Given the description of an element on the screen output the (x, y) to click on. 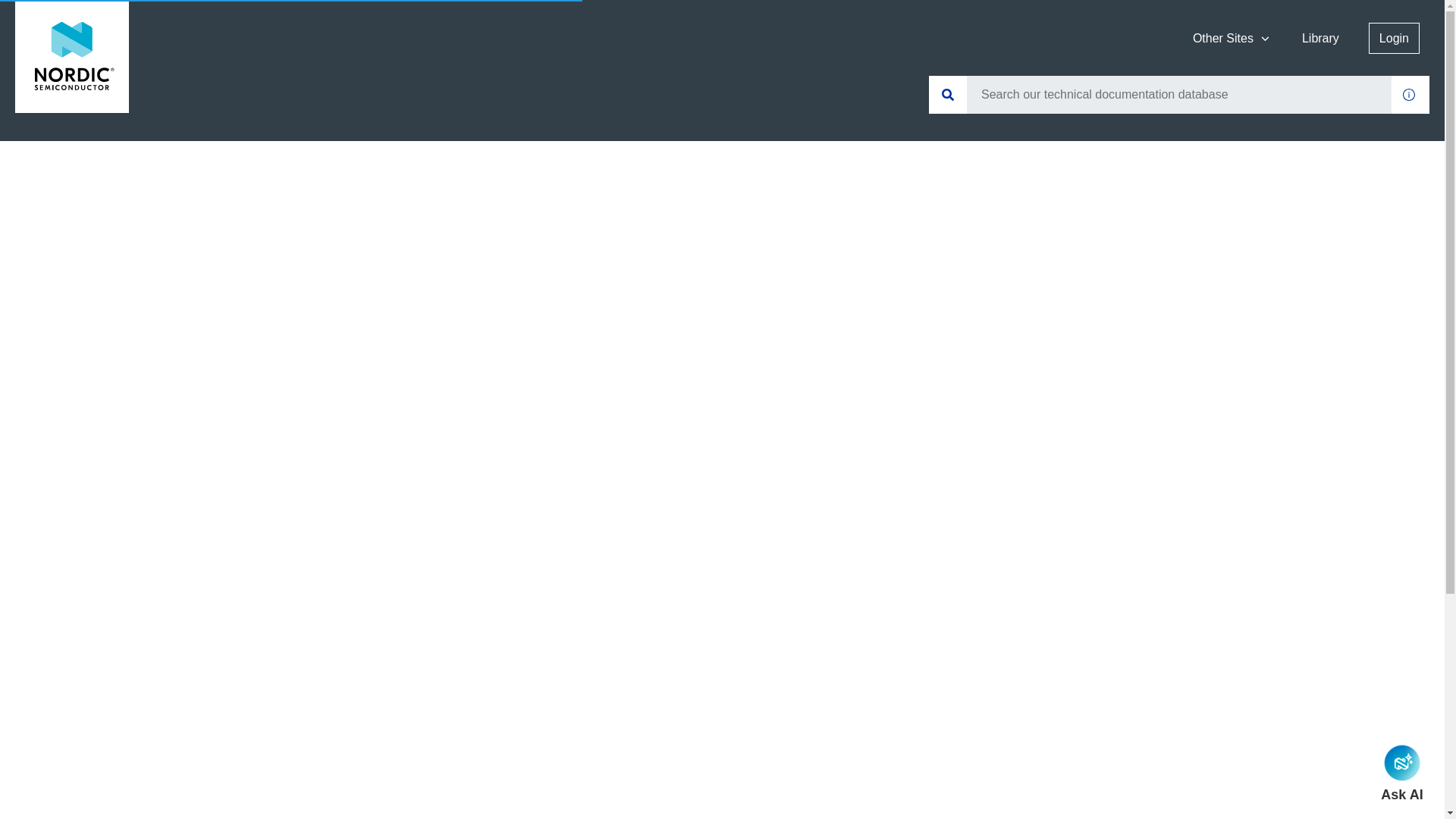
Other Sites (1231, 37)
Library (1320, 37)
Login (1393, 38)
Ask AI (1401, 772)
